Given the description of an element on the screen output the (x, y) to click on. 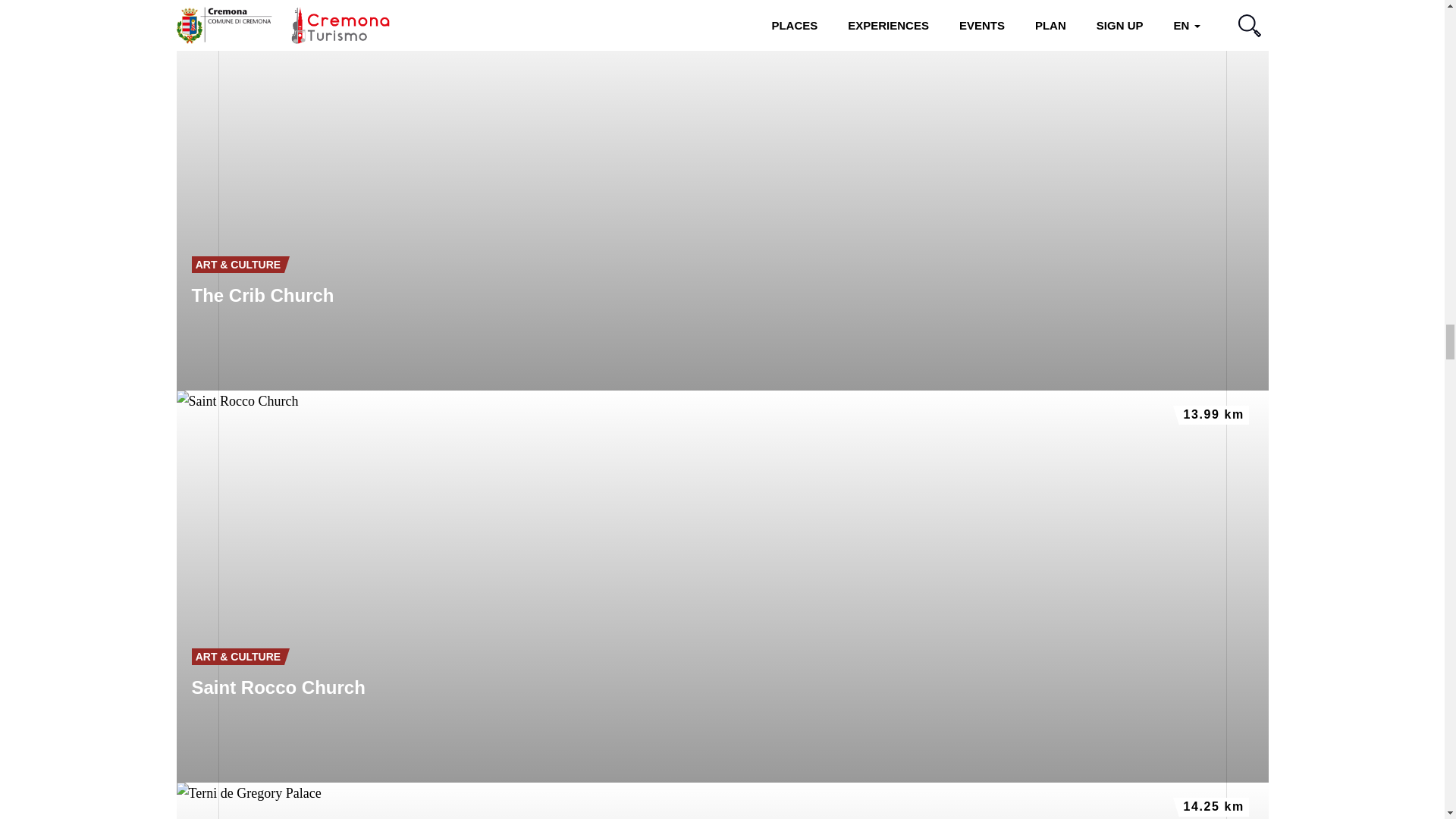
 Terni de Gregory Palace (722, 800)
